Given the description of an element on the screen output the (x, y) to click on. 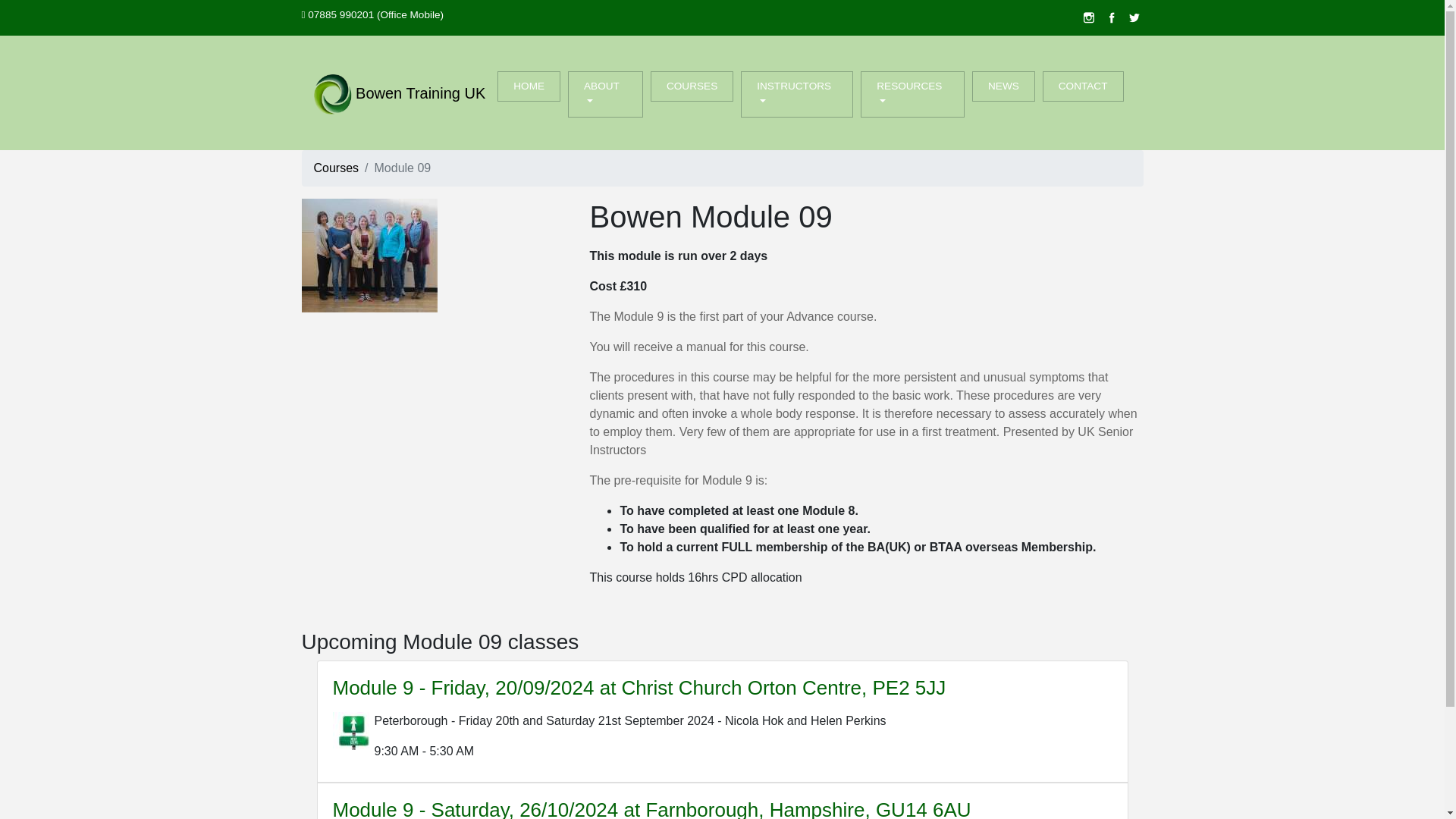
HOME (528, 86)
RESOURCES (911, 94)
07885 990201 (340, 14)
COURSES (691, 86)
INSTRUCTORS (797, 94)
NEWS (1003, 86)
CONTACT (1083, 86)
Bowen Training UK (400, 93)
Courses (336, 167)
ABOUT (605, 94)
